Given the description of an element on the screen output the (x, y) to click on. 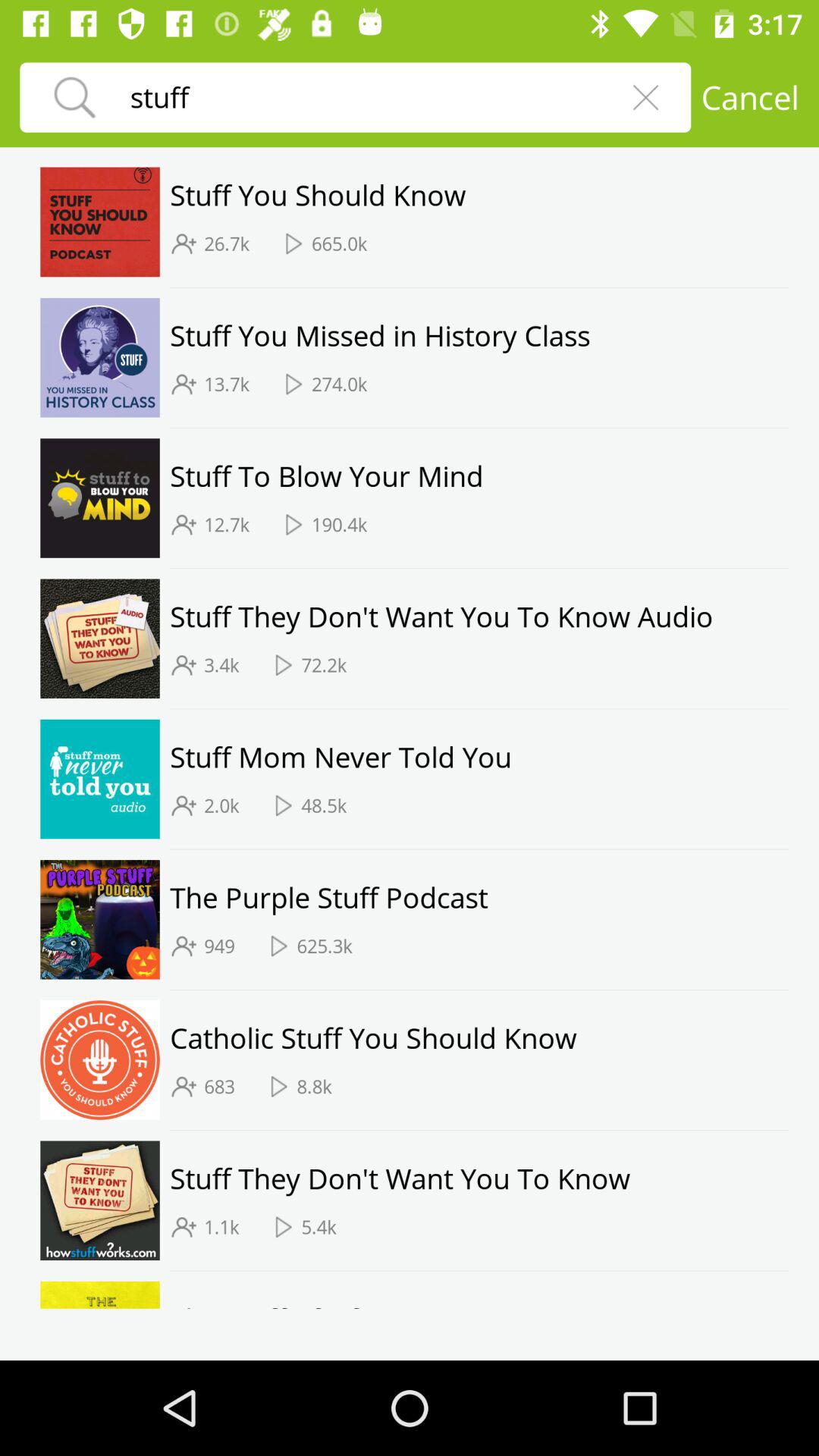
turn off the 625.3k icon (324, 945)
